Given the description of an element on the screen output the (x, y) to click on. 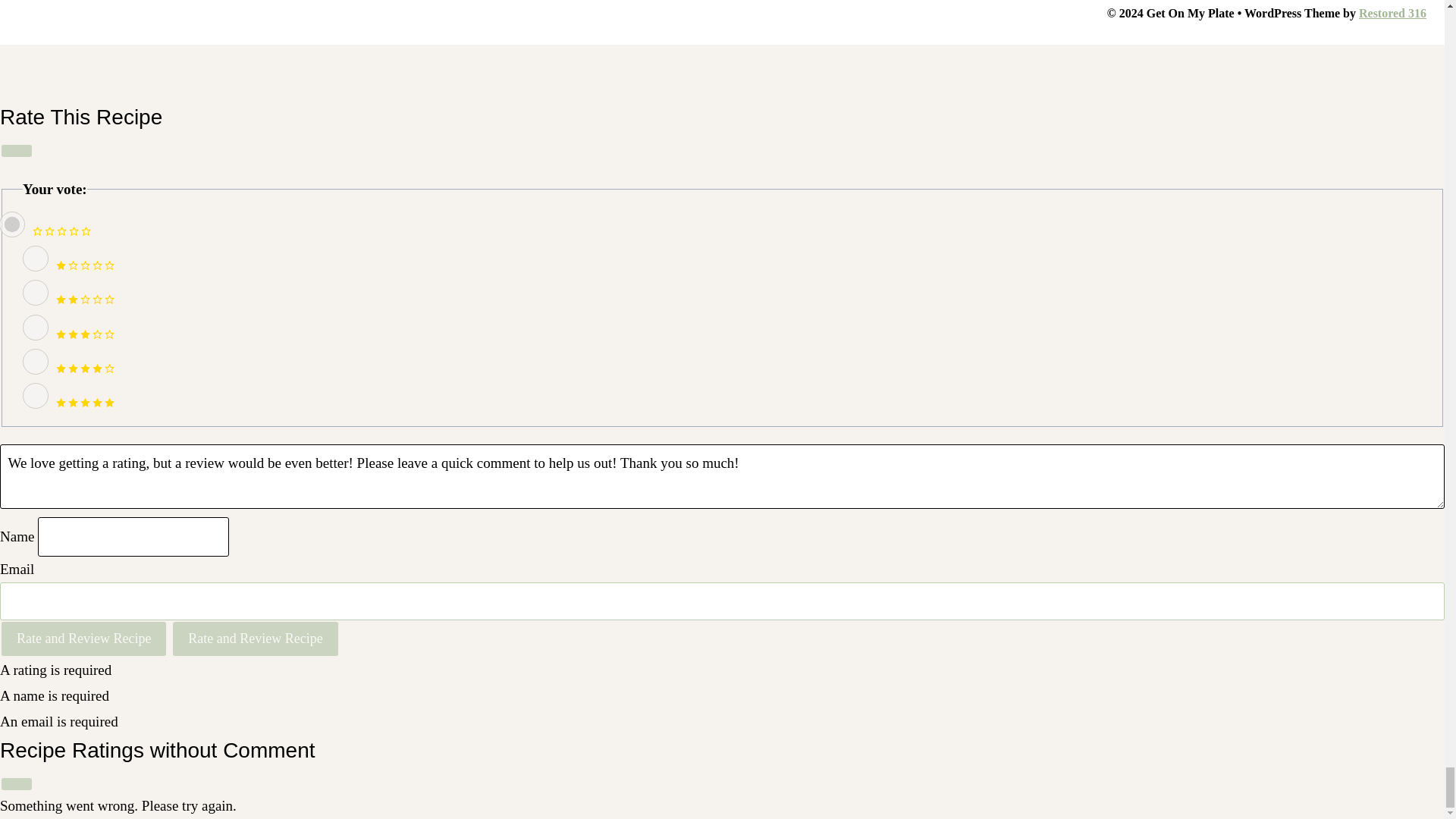
0 (12, 224)
3 (35, 327)
5 (35, 395)
1 (35, 258)
2 (35, 292)
4 (35, 361)
